Given the description of an element on the screen output the (x, y) to click on. 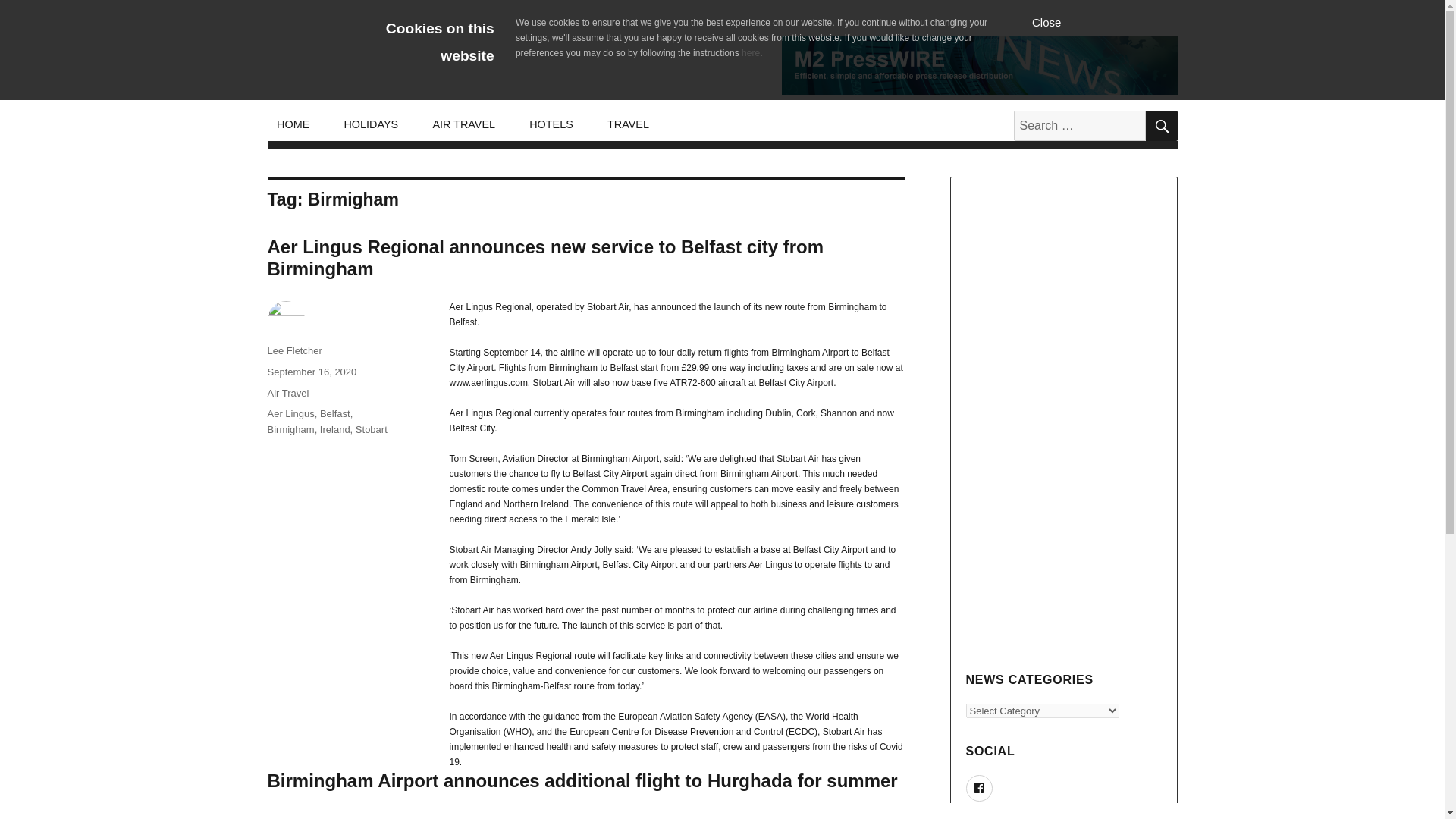
HOME (292, 124)
HOTELS (551, 124)
September 16, 2020 (311, 371)
FACEBOOK (979, 787)
Lee Fletcher (293, 350)
AIR TRAVEL (464, 124)
Aer Lingus (290, 413)
Birmigham (290, 429)
here (750, 52)
